Given the description of an element on the screen output the (x, y) to click on. 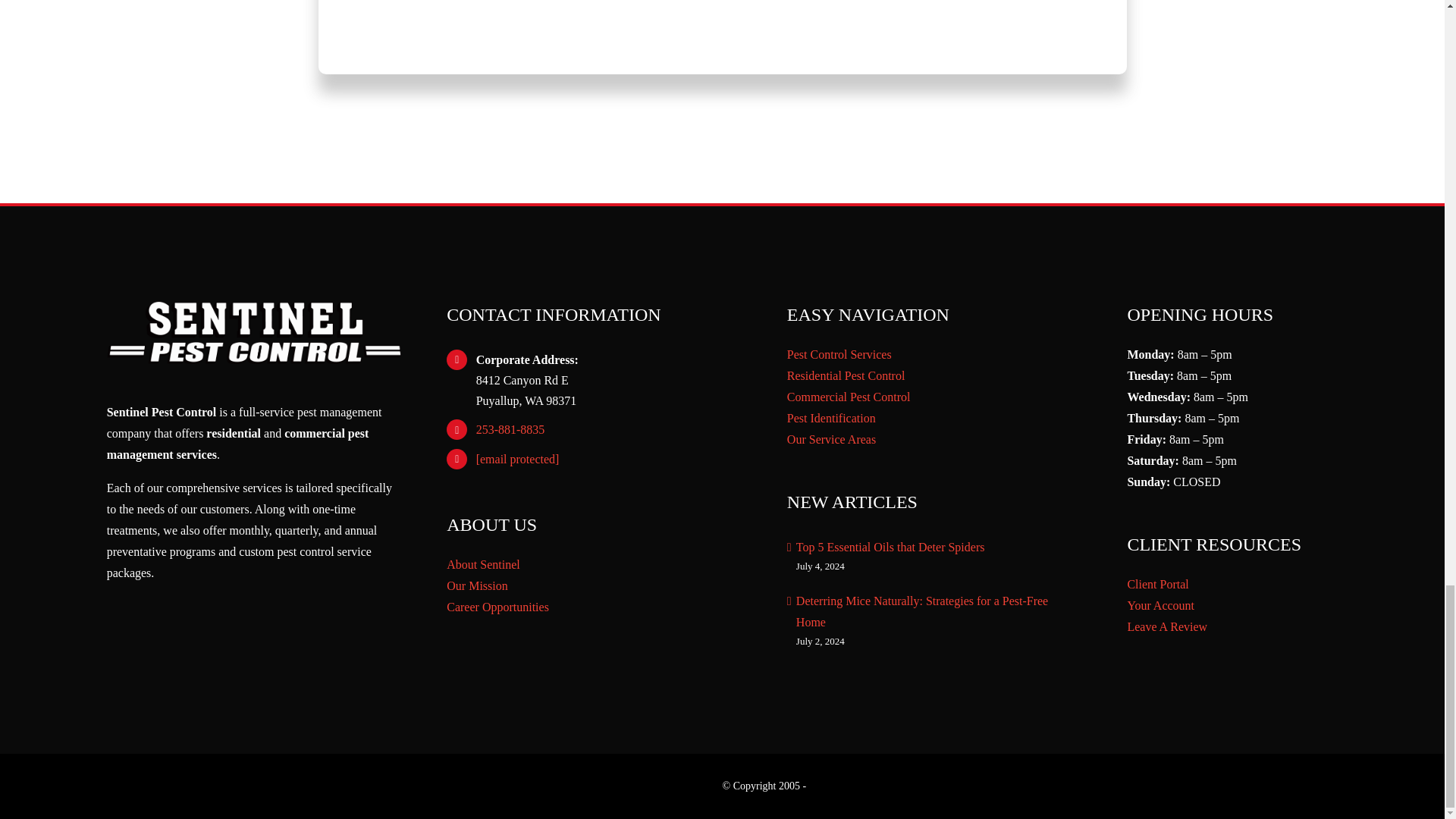
Pest Control Services (934, 354)
About Sentinel (593, 564)
Our Mission (593, 586)
Career Opportunities (593, 607)
253-881-8835 (608, 429)
